Given the description of an element on the screen output the (x, y) to click on. 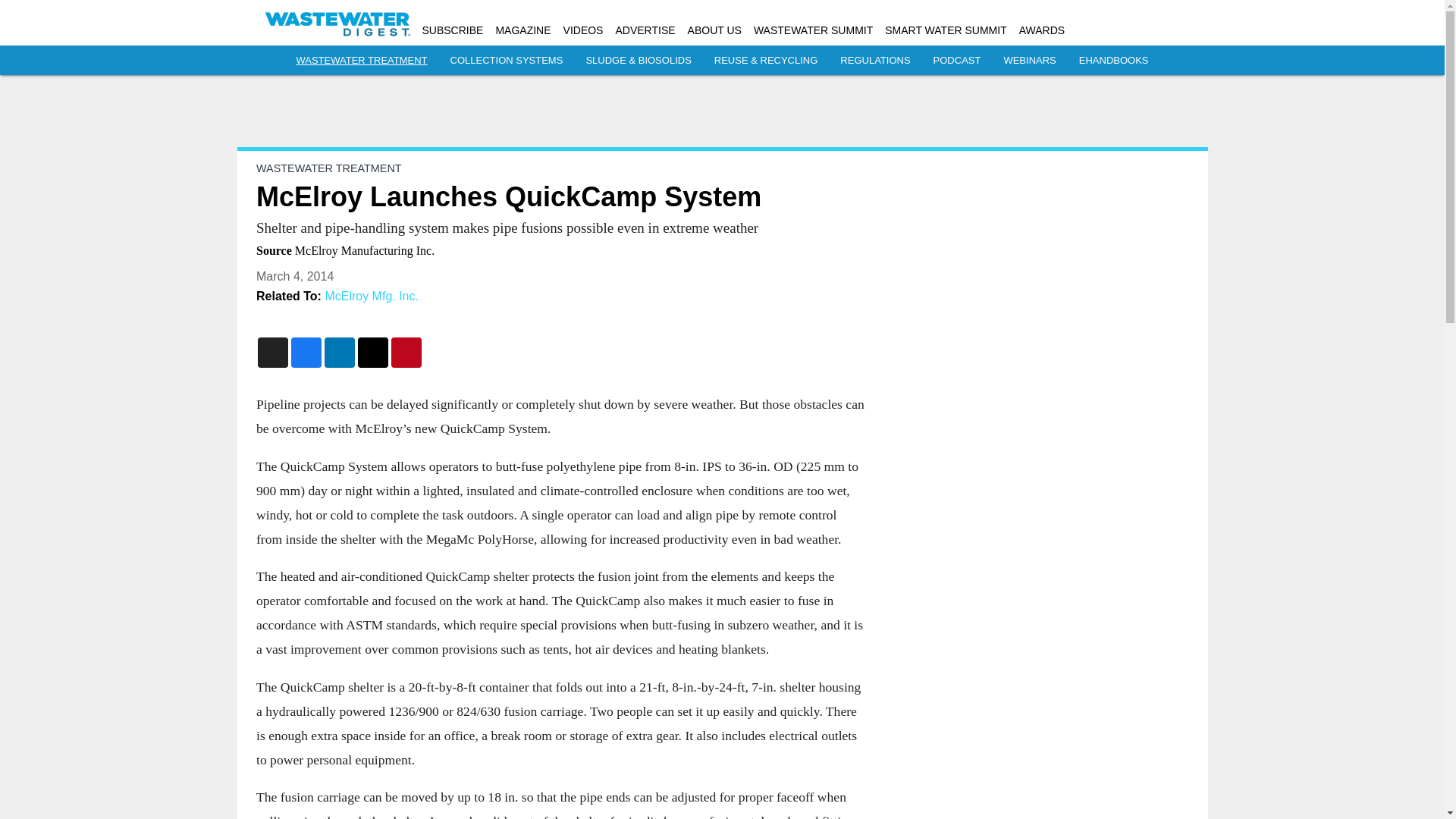
EHANDBOOKS (1113, 60)
WASTEWATER TREATMENT (360, 60)
REGULATIONS (875, 60)
MAGAZINE (522, 30)
AWARDS (1041, 30)
WASTEWATER SUMMIT (813, 30)
McElroy Mfg. Inc. (371, 295)
WASTEWATER TREATMENT (328, 168)
COLLECTION SYSTEMS (506, 60)
SMART WATER SUMMIT (945, 30)
